Given the description of an element on the screen output the (x, y) to click on. 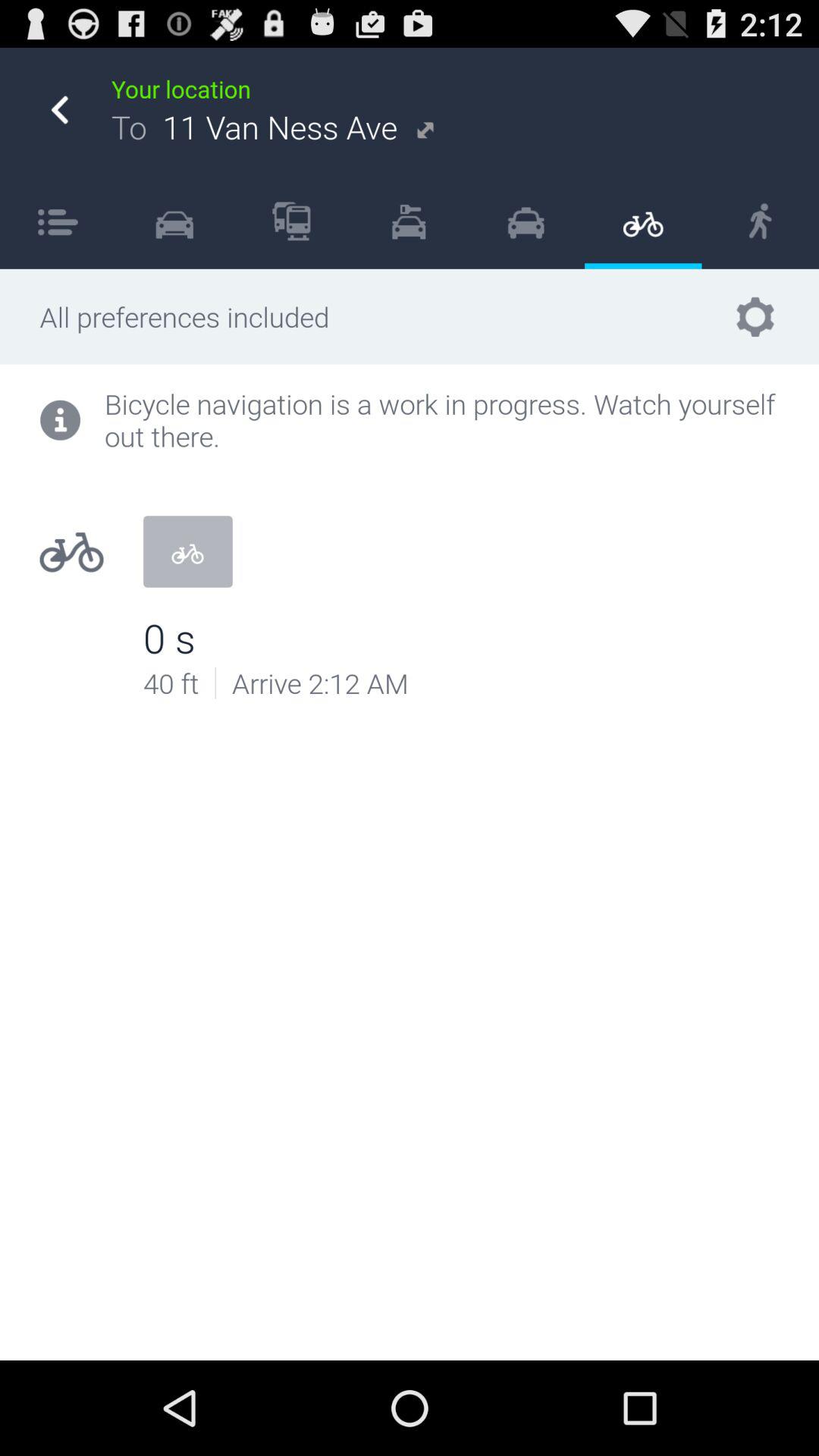
launch the icon next to   item (525, 221)
